Given the description of an element on the screen output the (x, y) to click on. 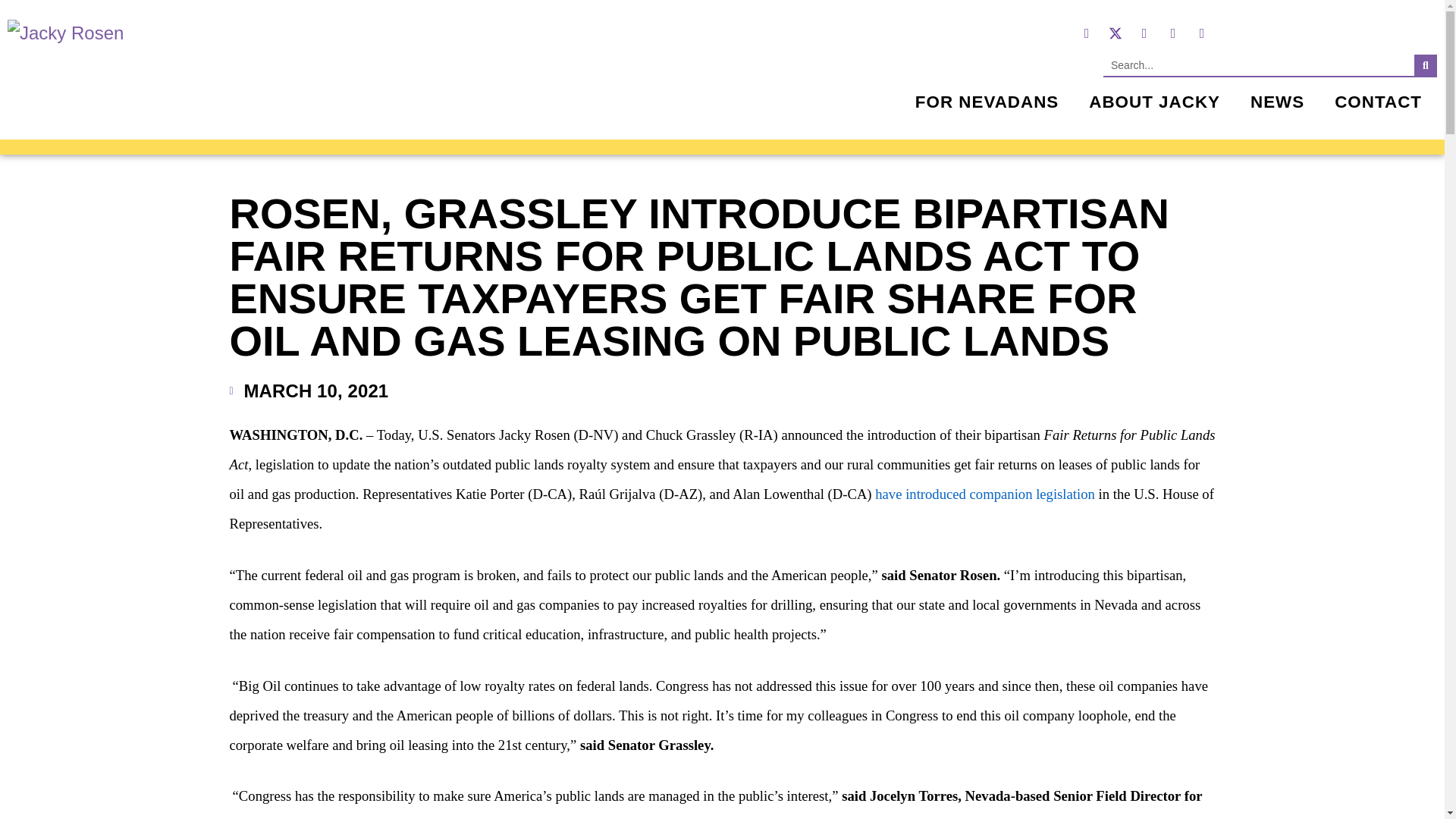
NEWS (1276, 102)
ABOUT JACKY (1154, 102)
FOR NEVADANS (986, 102)
